Given the description of an element on the screen output the (x, y) to click on. 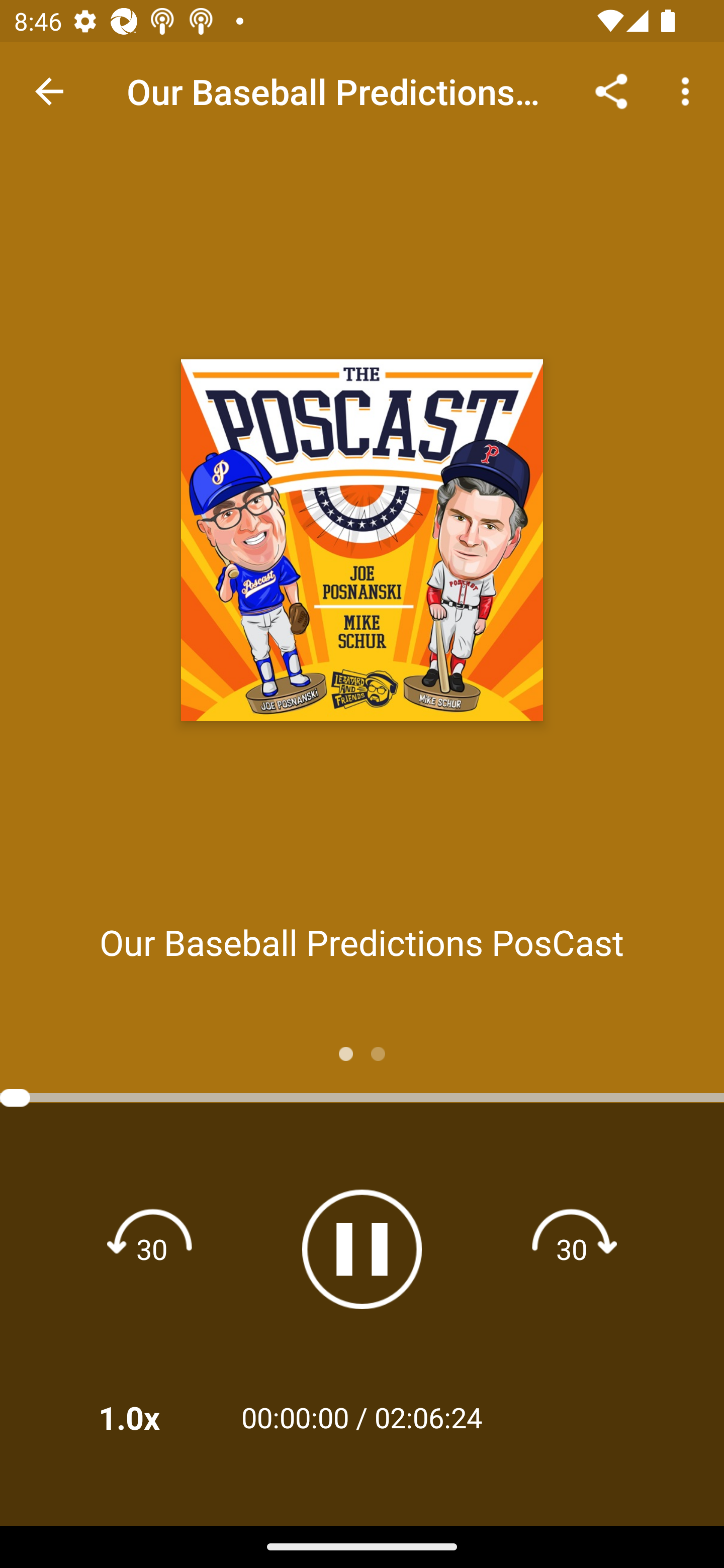
Navigate up (49, 91)
Share... (611, 90)
More options (688, 90)
Pause (361, 1249)
Rewind (151, 1248)
Fast forward (571, 1248)
1.0x Playback Speeds (154, 1417)
02:06:24 (428, 1417)
